Given the description of an element on the screen output the (x, y) to click on. 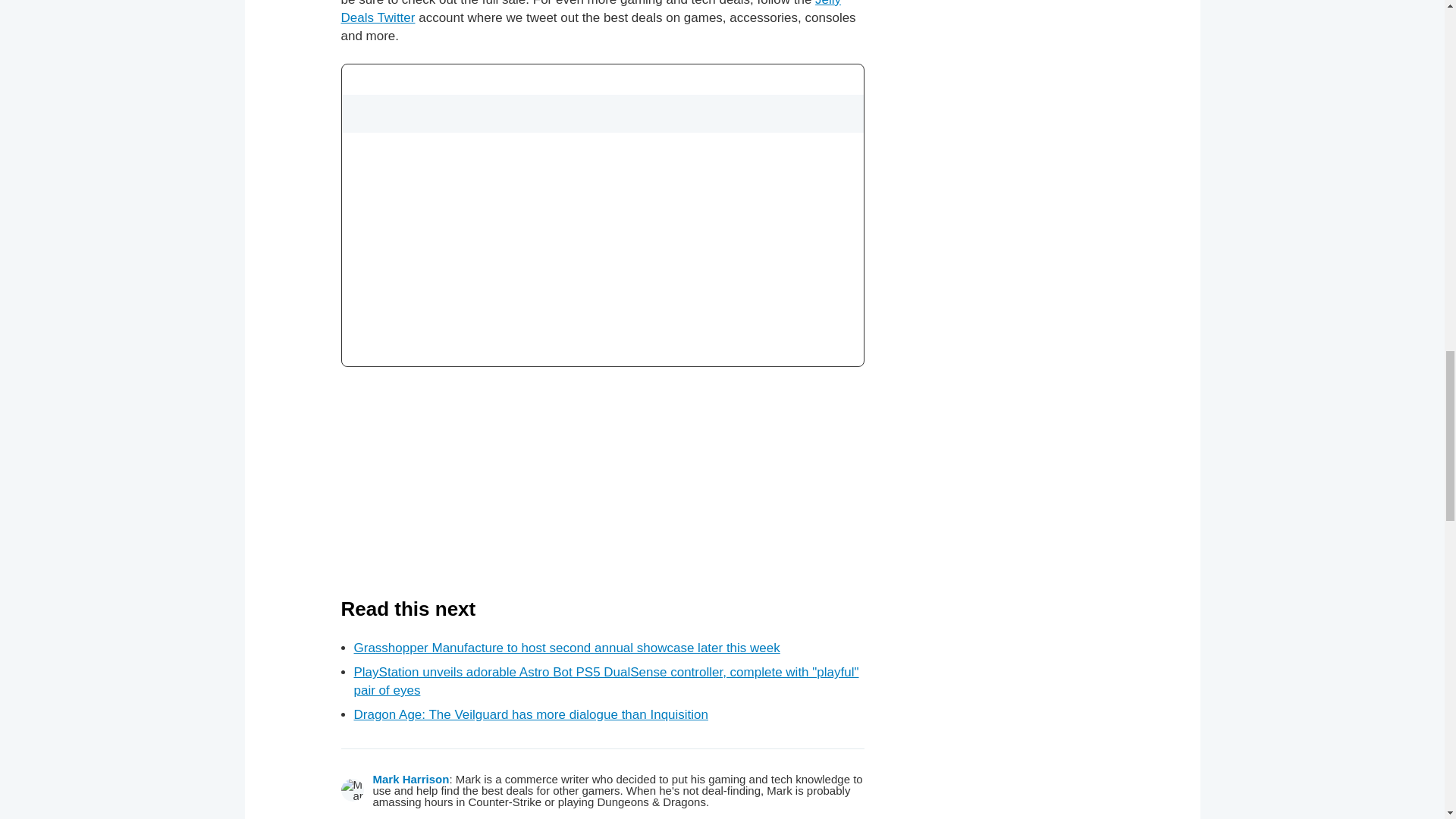
Dragon Age: The Veilguard has more dialogue than Inquisition (530, 714)
Jelly Deals Twitter (590, 12)
Mark Harrison (410, 779)
